Given the description of an element on the screen output the (x, y) to click on. 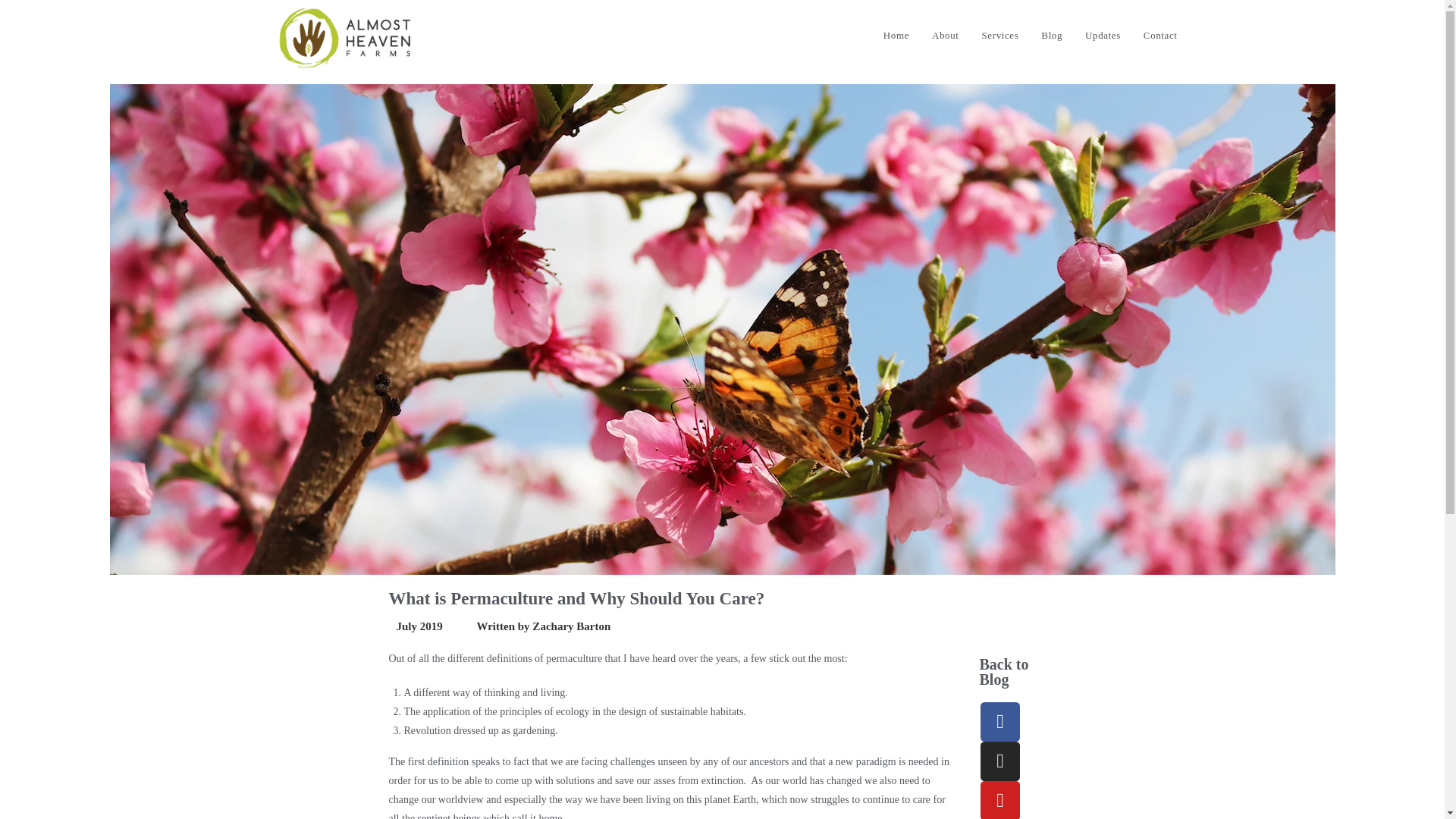
About (945, 35)
Contact (1160, 35)
Back to Blog (1002, 671)
Updates (1103, 35)
Services (1000, 35)
